Given the description of an element on the screen output the (x, y) to click on. 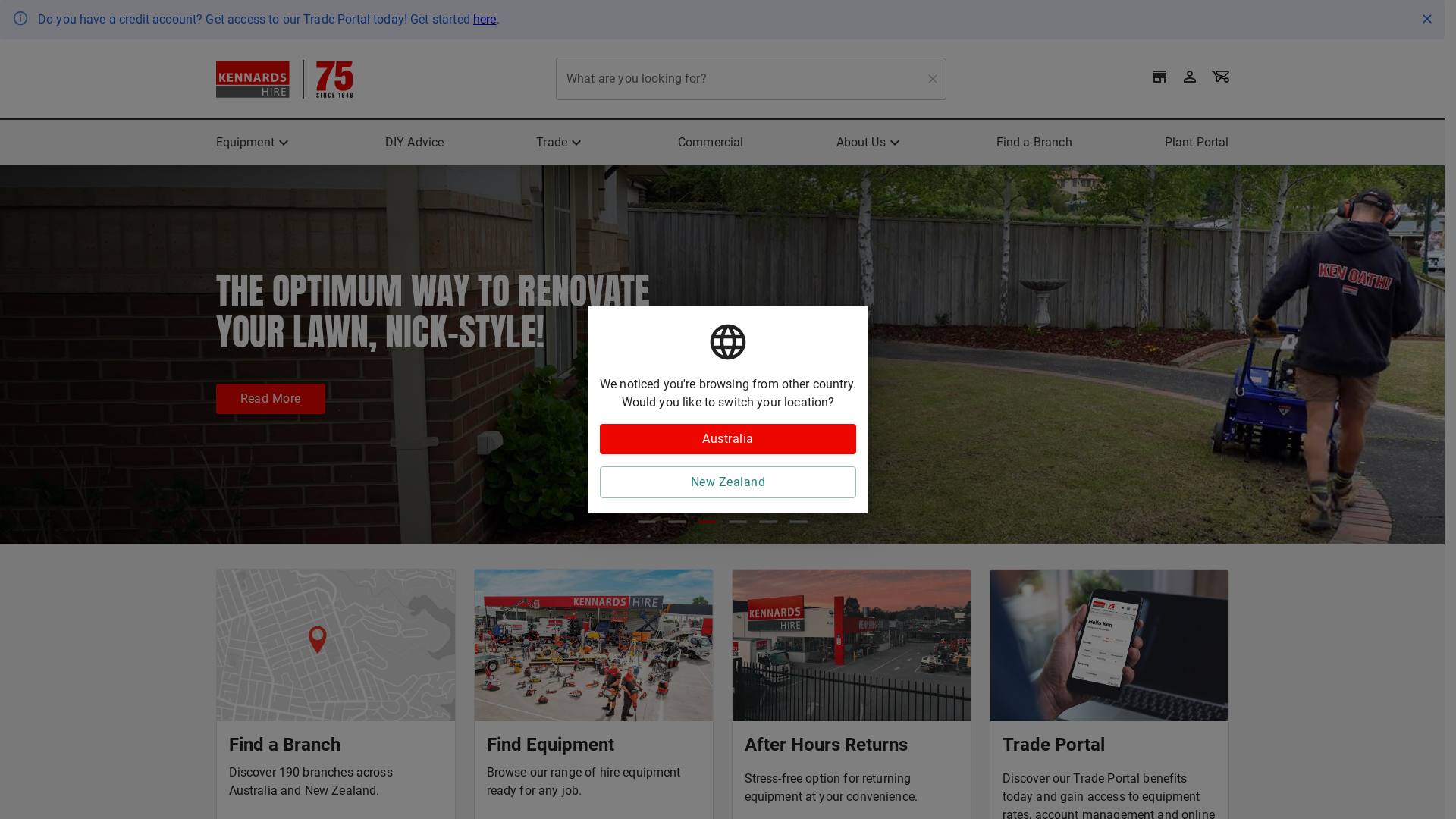
Read Article Element type: text (501, 429)
Plant Portal Element type: text (1196, 142)
Find a Branch Element type: text (1034, 142)
Read More Element type: text (269, 398)
Commercial Element type: text (710, 142)
New Zealand Element type: text (727, 482)
View Our Equipment Range Element type: text (316, 429)
Kennards Hire - Hire or Rent Equipment, Tools & Supplies Element type: hover (283, 78)
Close Element type: hover (1426, 18)
Australia Element type: text (727, 438)
DIY Advice Element type: text (414, 142)
here Element type: text (484, 19)
